Given the description of an element on the screen output the (x, y) to click on. 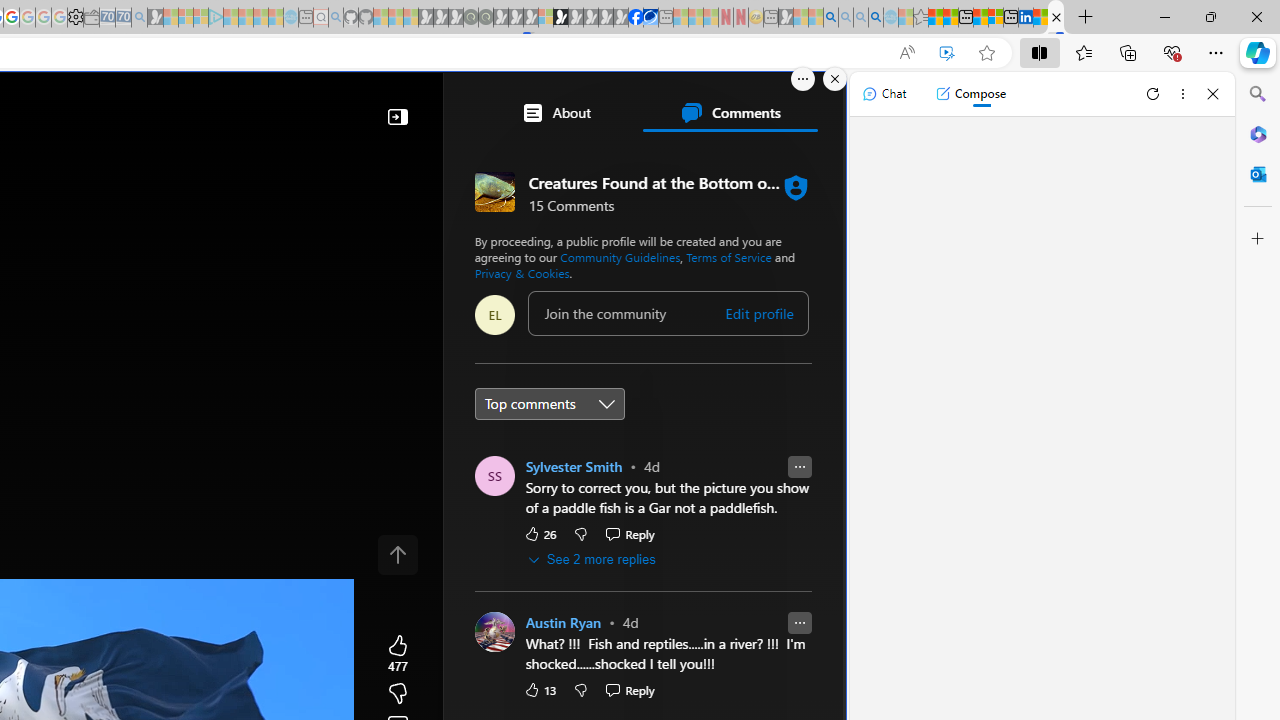
More options. (803, 79)
Collapse (397, 115)
CNN (545, 645)
comment-box (667, 313)
Favorites - Sleeping (920, 17)
